Given the description of an element on the screen output the (x, y) to click on. 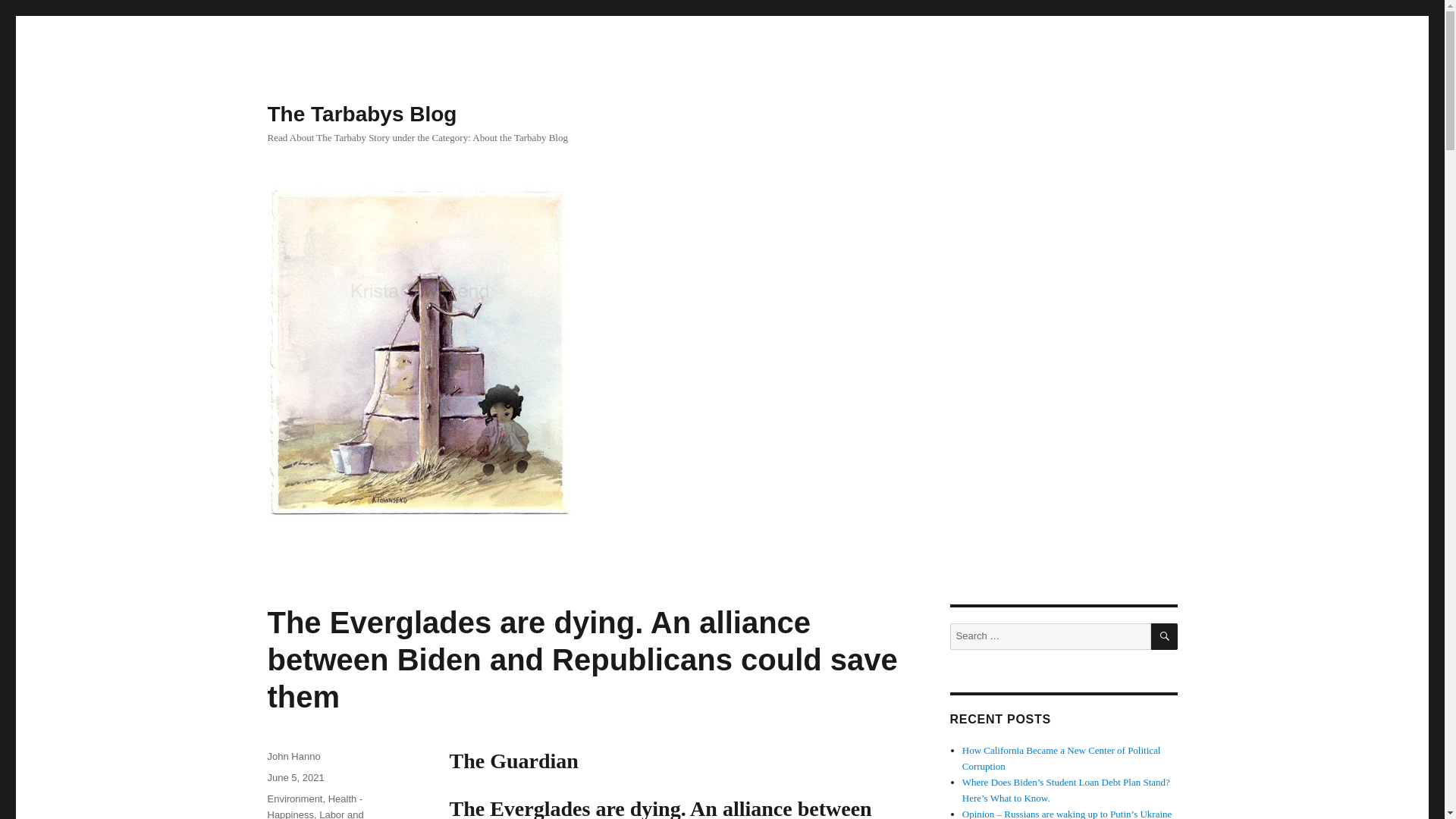
How California Became a New Center of Political Corruption (1061, 758)
SEARCH (1164, 636)
Environment (293, 798)
John Hanno (293, 756)
Labor and Working (314, 814)
June 5, 2021 (294, 777)
The Tarbabys Blog (361, 114)
Health - Happiness (314, 806)
